Given the description of an element on the screen output the (x, y) to click on. 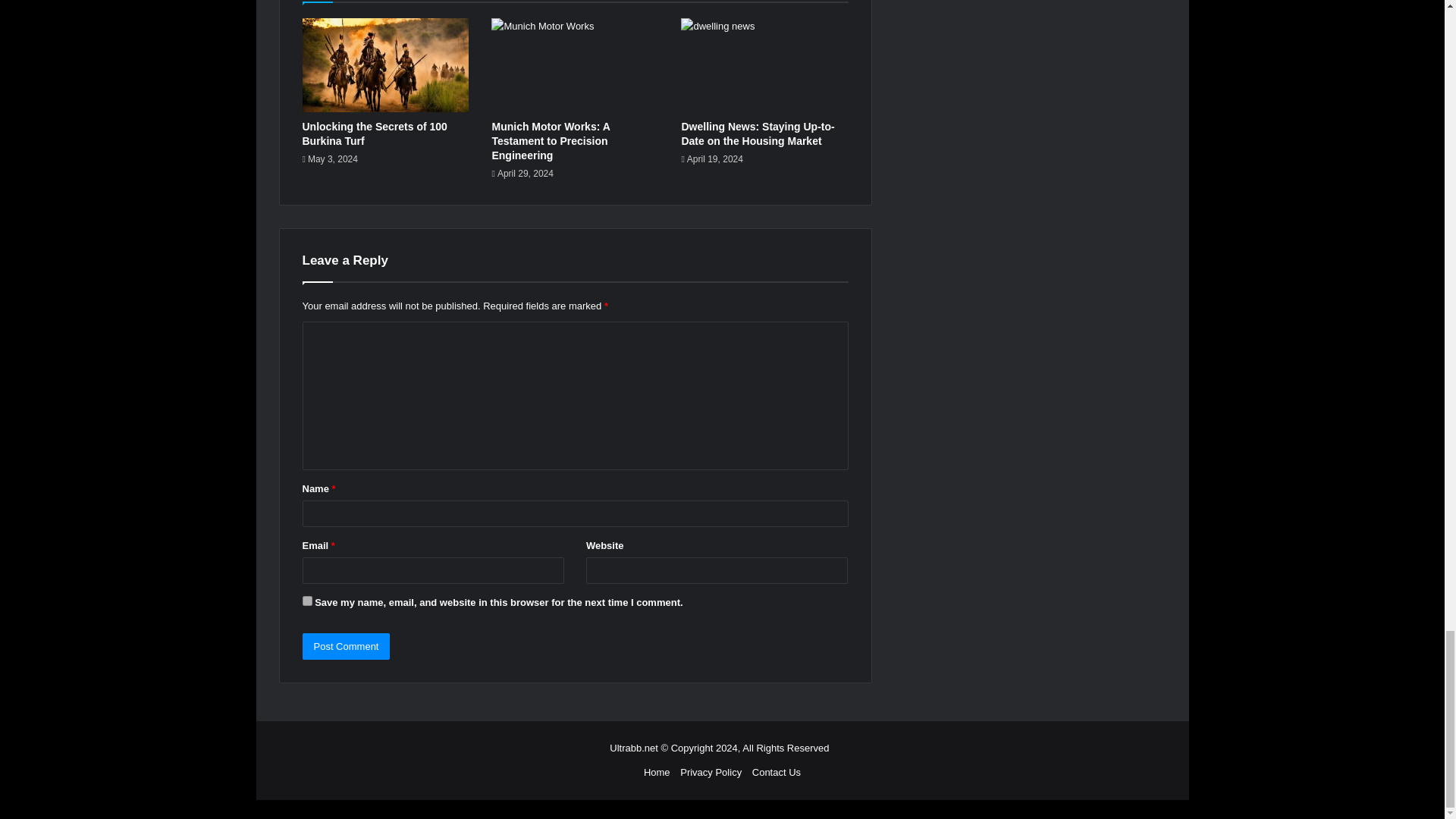
yes (306, 601)
Post Comment (345, 646)
